Given the description of an element on the screen output the (x, y) to click on. 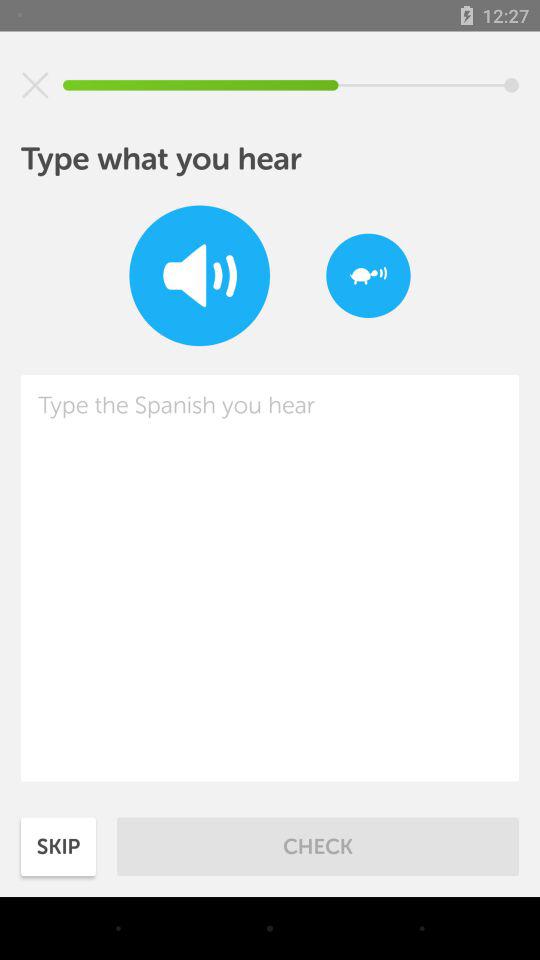
turn on icon to the right of skip icon (318, 846)
